Given the description of an element on the screen output the (x, y) to click on. 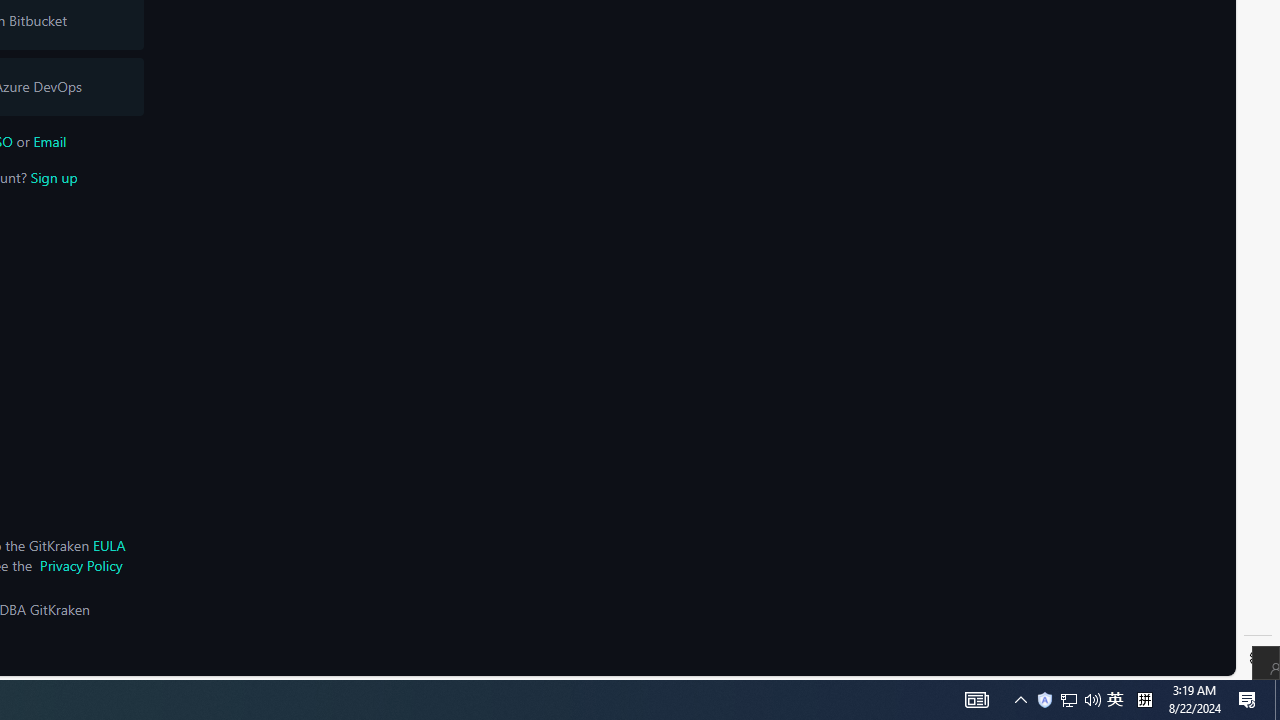
Privacy Policy (80, 565)
Email (49, 141)
Sign up (53, 177)
EULA (108, 545)
